Given the description of an element on the screen output the (x, y) to click on. 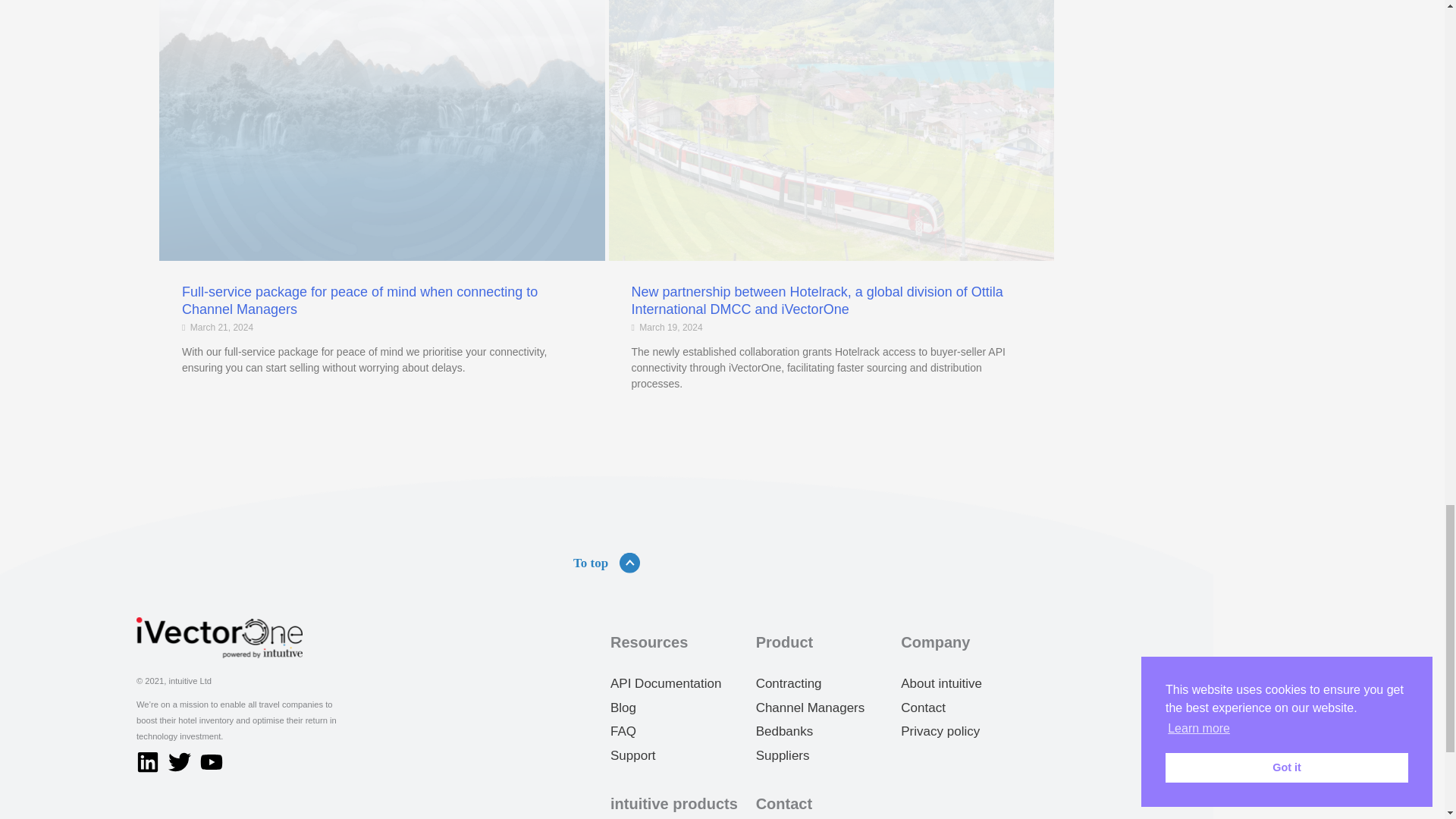
Contracting (788, 683)
Bedbanks (784, 730)
Blog (623, 707)
Support (633, 755)
Channel Managers (809, 707)
FAQ (623, 730)
API Documentation (665, 683)
